Given the description of an element on the screen output the (x, y) to click on. 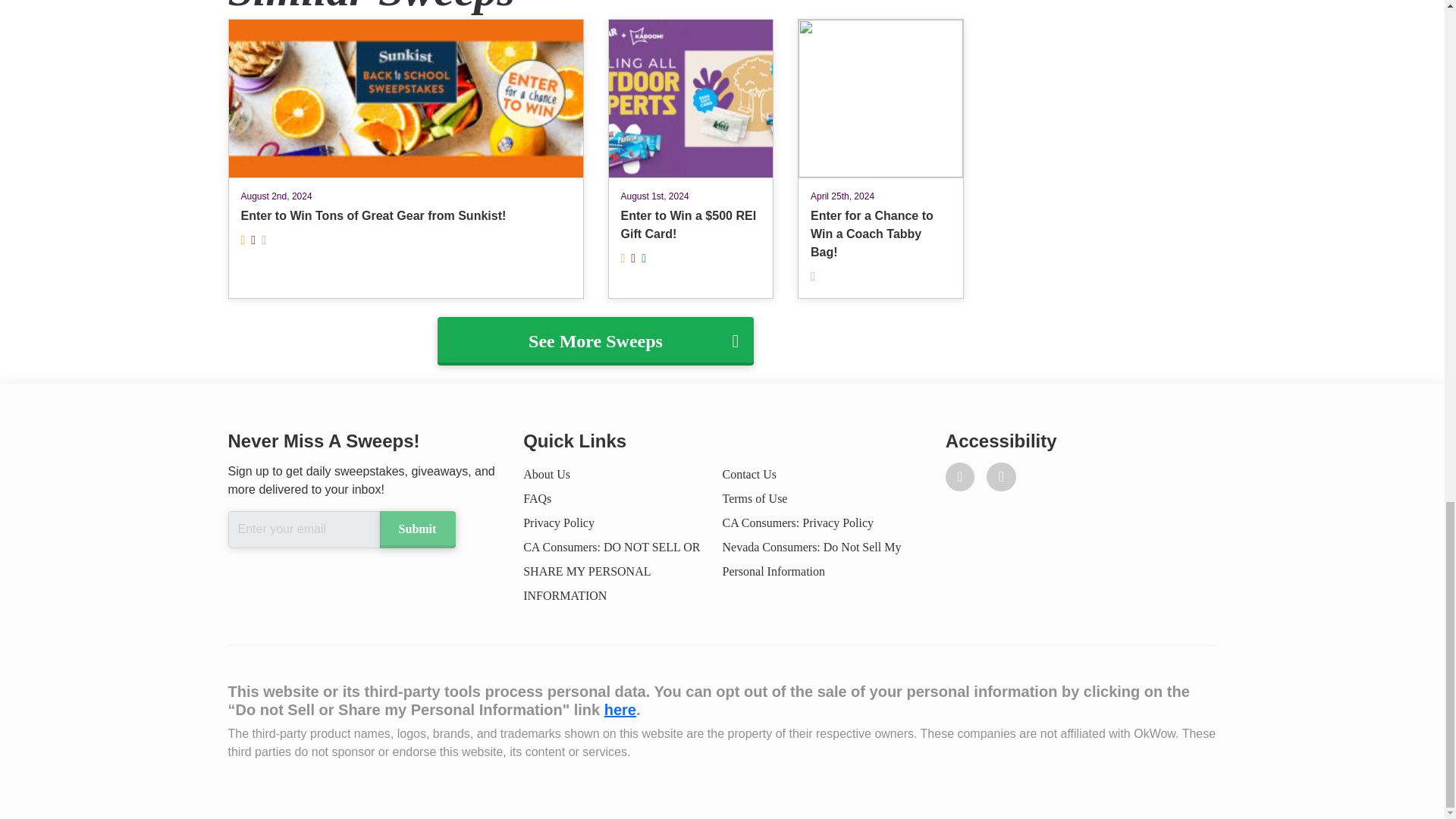
Contact Us (749, 473)
Terms of Use (754, 498)
CA Consumers: DO NOT SELL OR SHARE MY PERSONAL INFORMATION (611, 570)
About Us (546, 473)
Privacy Policy (558, 522)
See More Sweeps (596, 340)
Nevada Consumers: Do Not Sell My Personal Information (811, 559)
Submit (416, 529)
CA Consumers: Privacy Policy (797, 522)
